Given the description of an element on the screen output the (x, y) to click on. 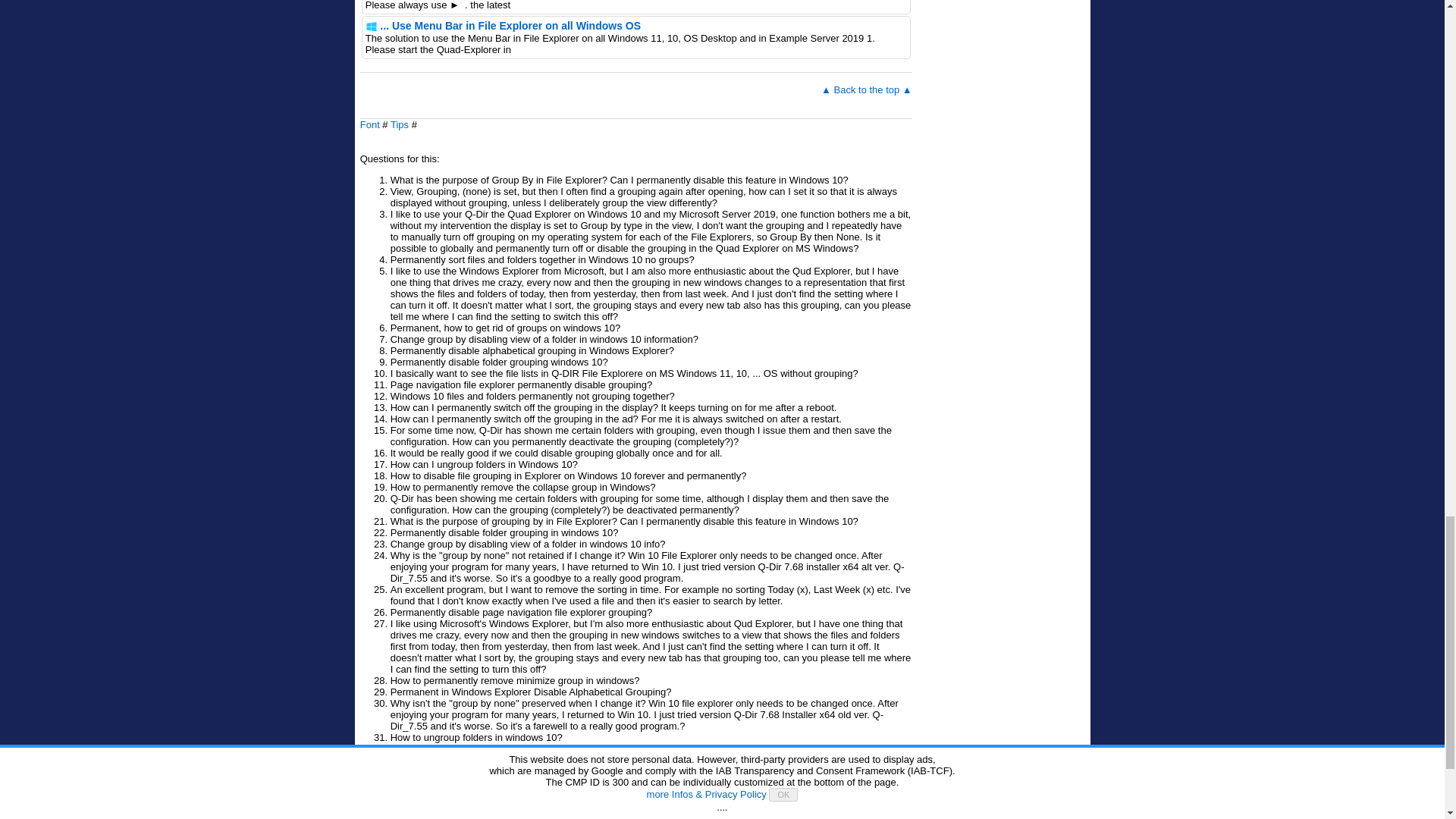
Tips (399, 124)
Font (369, 124)
Tips for Windows 10 (733, 793)
Tips  (399, 124)
Tips for Windows 11 (665, 793)
Font  (369, 124)
Use Menu Bar in File Explorer on all Windows OS (510, 25)
... Use Menu Bar in File Explorer on all Windows OS (510, 25)
